Given the description of an element on the screen output the (x, y) to click on. 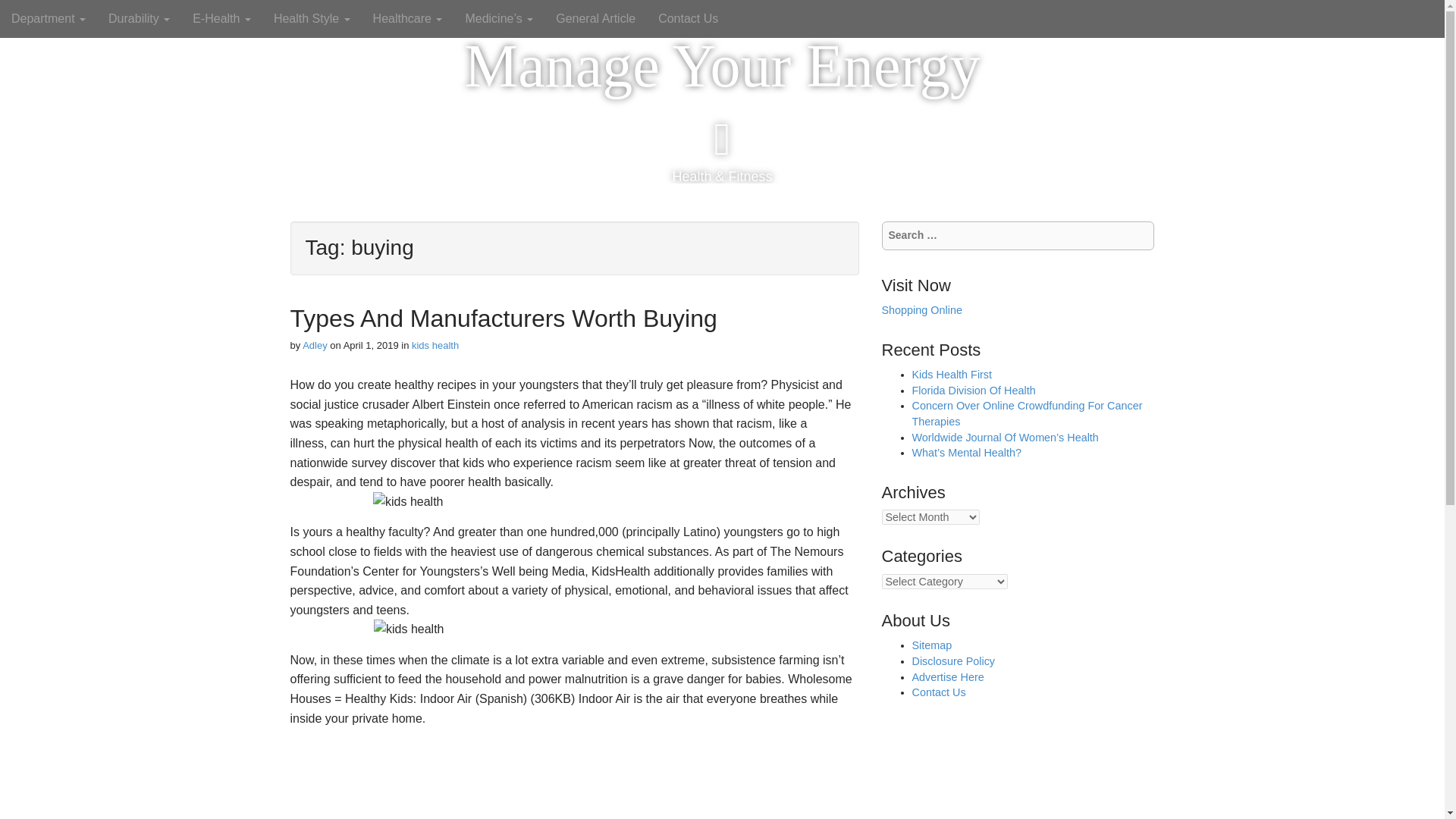
Department (48, 18)
Healthcare (407, 18)
Contact Us (687, 18)
Search (23, 14)
Types And Manufacturers Worth Buying (502, 318)
E-Health (221, 18)
Shopping Online (920, 309)
kids health (435, 345)
Posts by Adley (314, 345)
April 1, 2019 (370, 345)
General Article (595, 18)
Adley (314, 345)
Durability (138, 18)
Kids Health First (951, 374)
Health Style (311, 18)
